Given the description of an element on the screen output the (x, y) to click on. 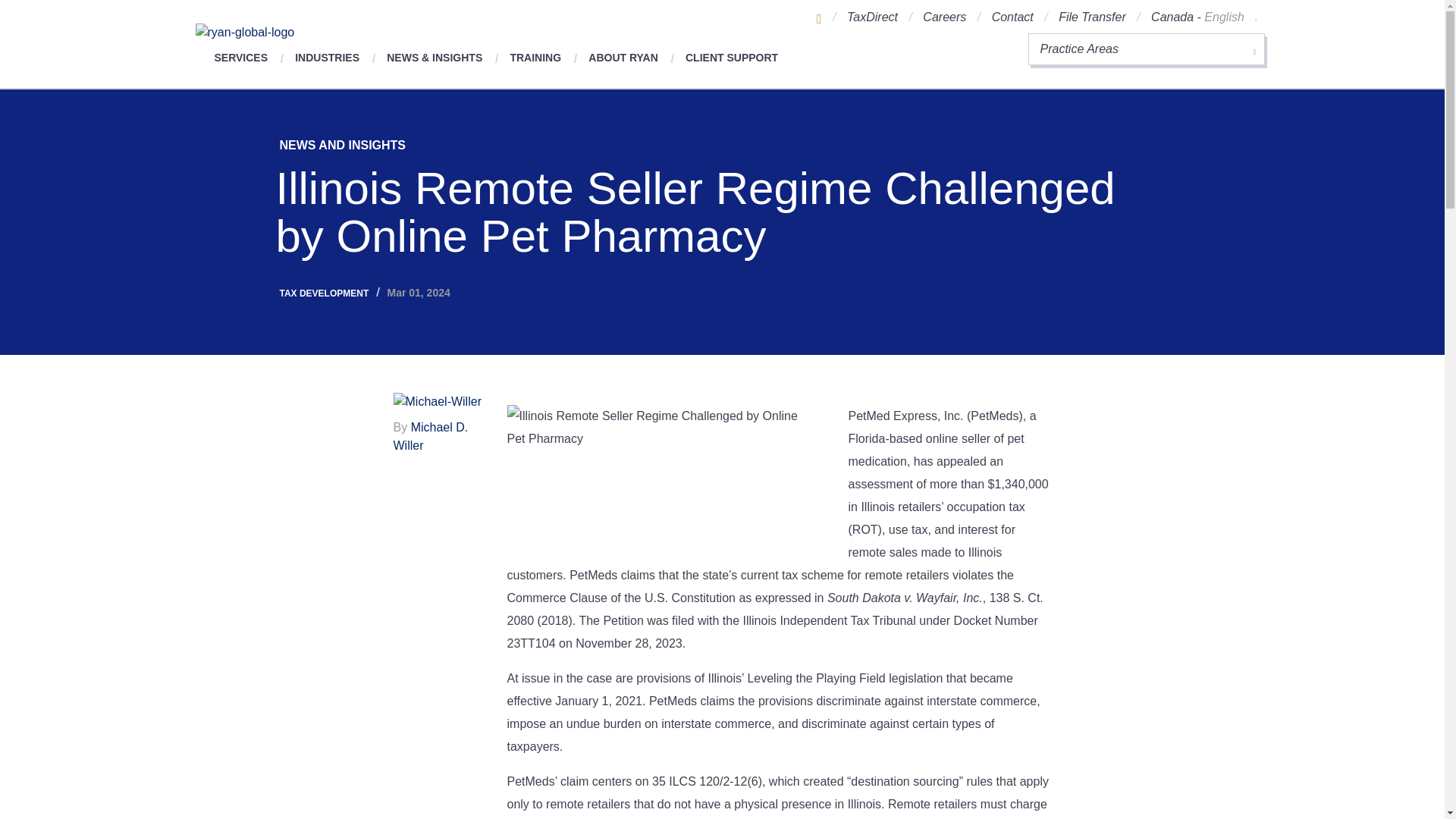
TaxDirect (872, 16)
Careers (944, 16)
File Transfer (1091, 16)
Canada - English (1203, 16)
Contact (1012, 16)
Contact (1012, 16)
File Transfer (1091, 16)
TaxDirect (872, 16)
Careers (944, 16)
